Given the description of an element on the screen output the (x, y) to click on. 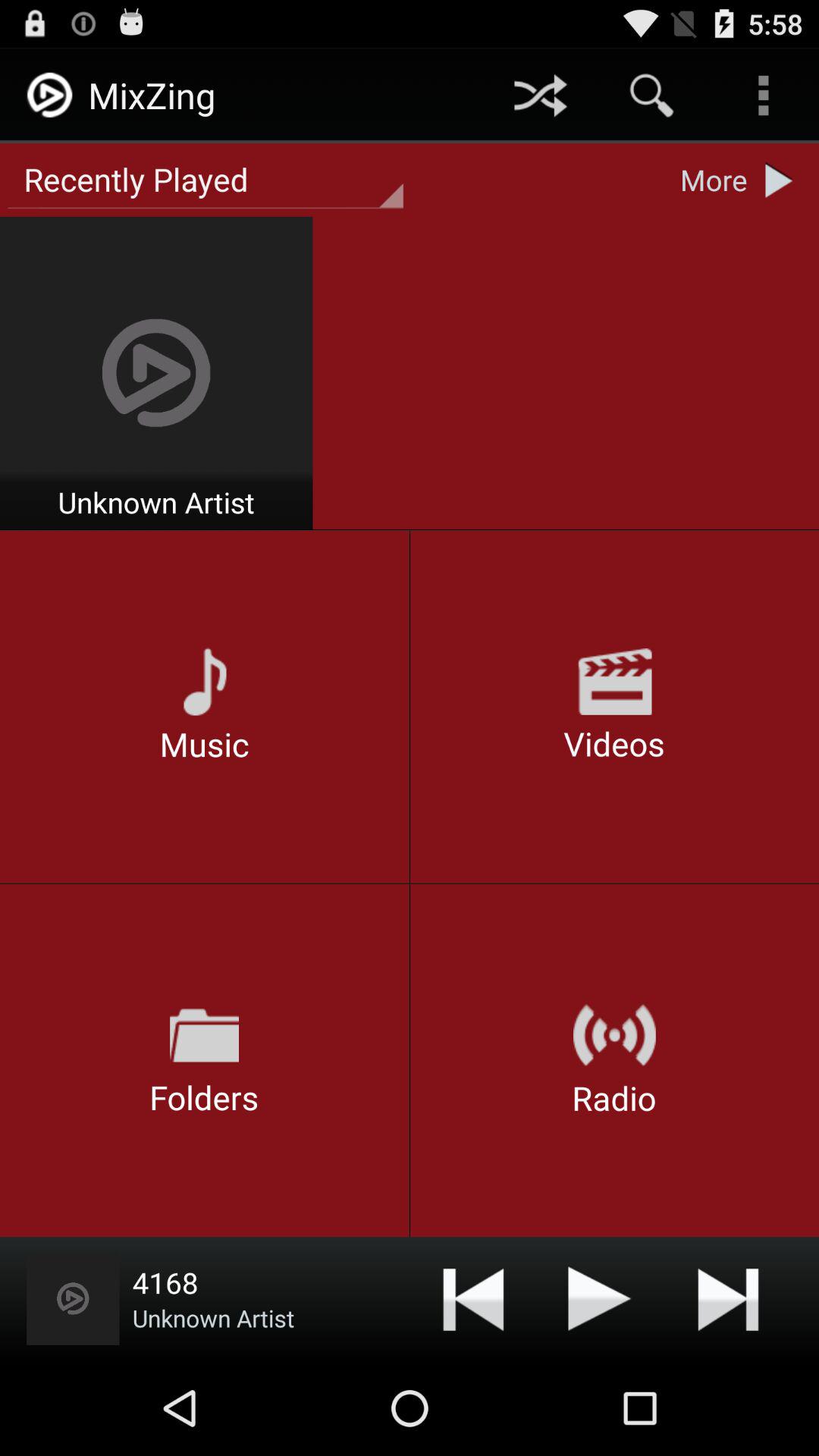
select the forward (472, 1298)
